Given the description of an element on the screen output the (x, y) to click on. 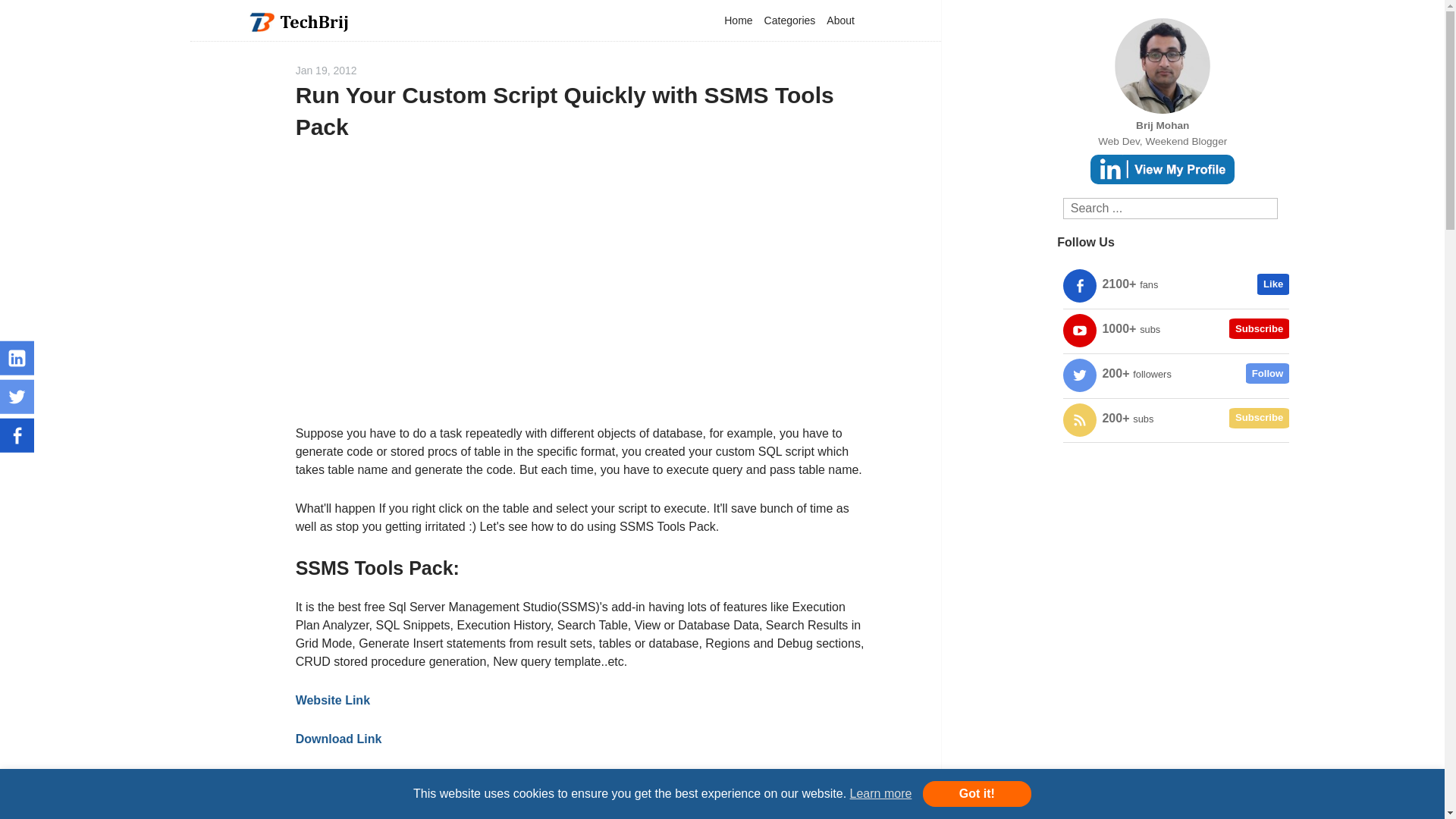
Like (1272, 283)
Website Link (332, 699)
Subscribe (1258, 328)
Subscribe (1258, 418)
Follow (1267, 373)
Categories (789, 20)
About (840, 20)
Download Link (338, 738)
Advertisement (582, 289)
TechBrij Categories (789, 20)
Home (738, 20)
